Given the description of an element on the screen output the (x, y) to click on. 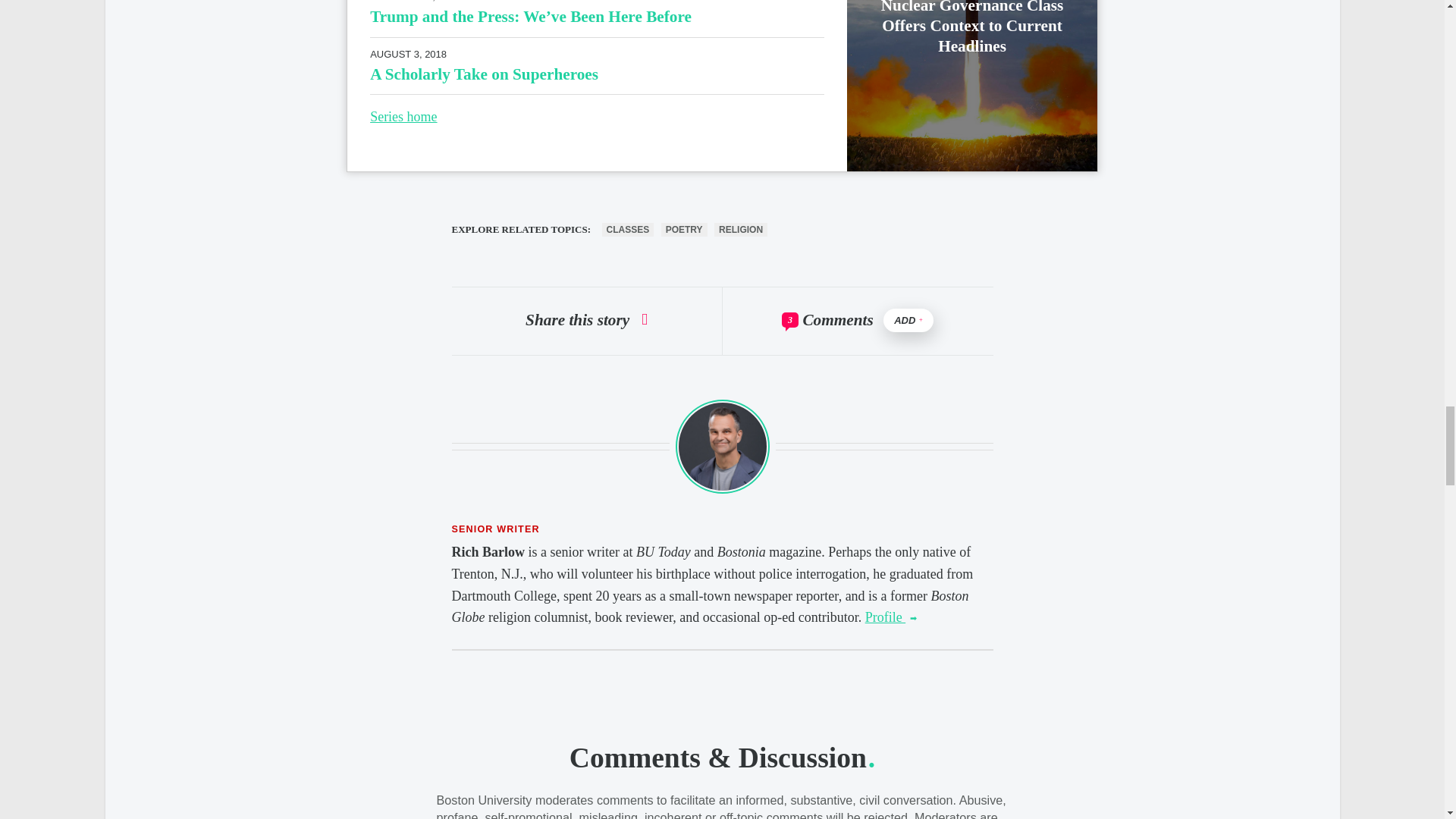
POETRY (684, 229)
3 (789, 319)
A Class That Explores the Gospel According to Tupac Shakur (890, 616)
Nuclear Governance Class Offers Context to Current Headlines (971, 27)
A Scholarly Take on Superheroes (483, 74)
ADD (908, 320)
CLASSES (627, 229)
Series home (402, 116)
RELIGION (740, 229)
